Given the description of an element on the screen output the (x, y) to click on. 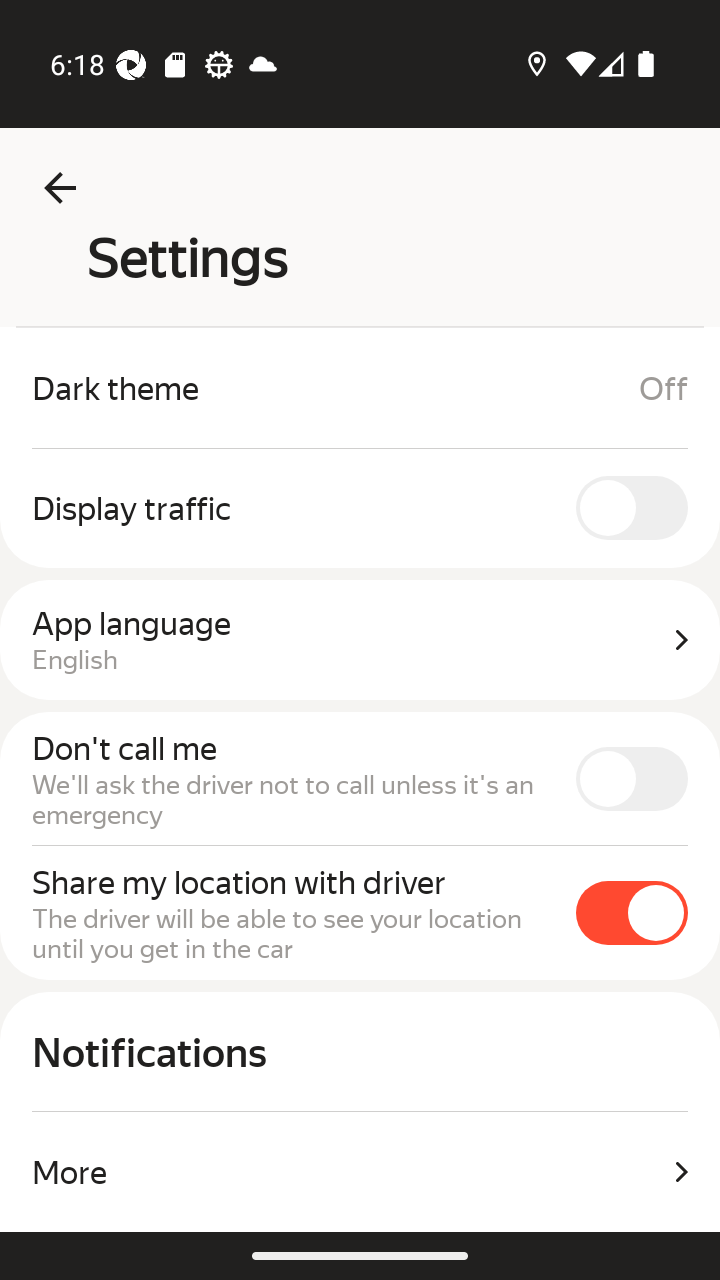
Back (60, 188)
Dark theme Dark theme Off Off (360, 387)
Display traffic (360, 508)
App language, English App language English (360, 639)
